Given the description of an element on the screen output the (x, y) to click on. 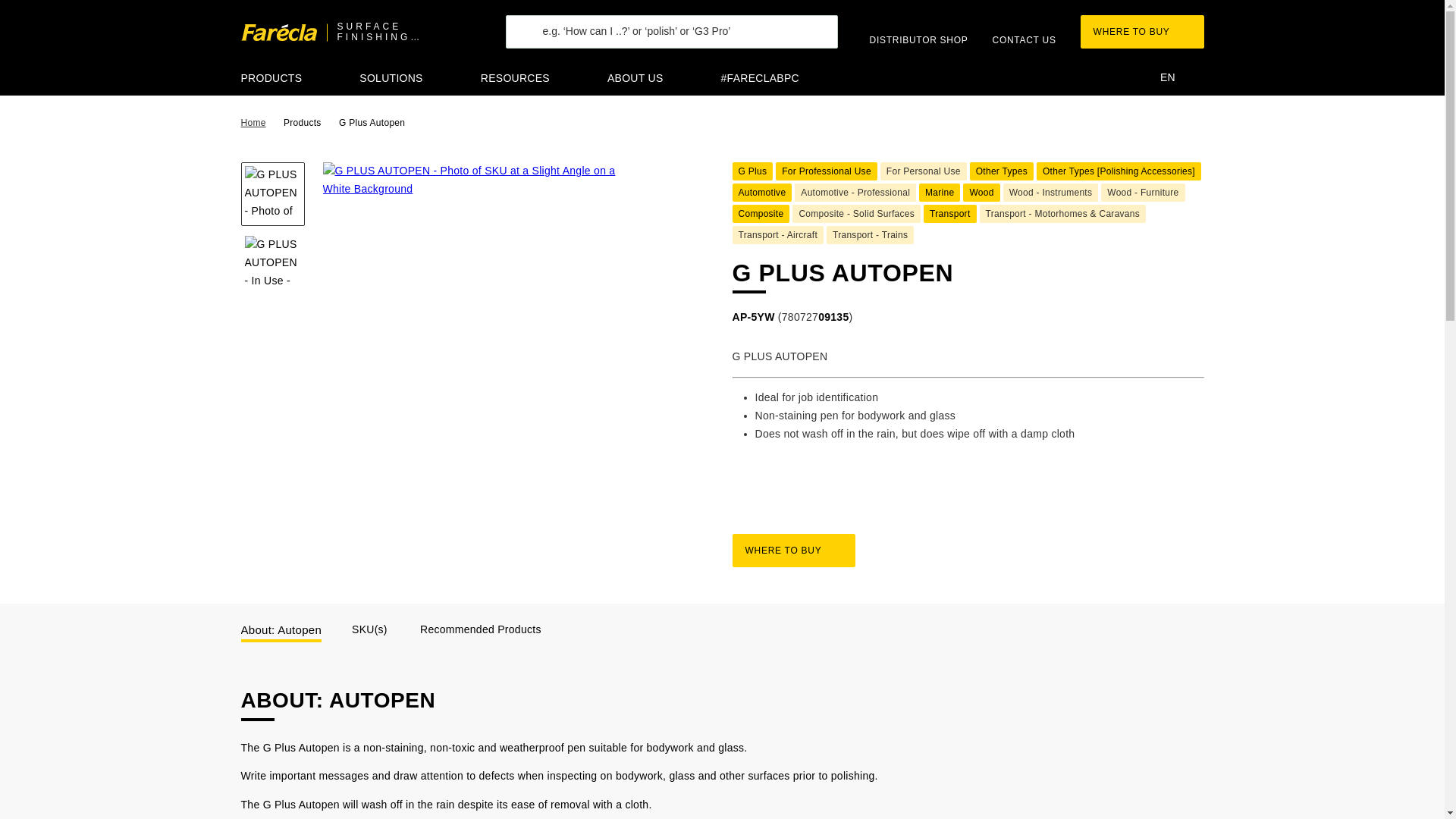
DISTRIBUTOR SHOP (918, 31)
EN (1177, 77)
SURFACE FINISHING SPECIALISTS (357, 32)
CONTACT US (1024, 31)
PRODUCTS (281, 79)
Search (538, 48)
WHERE TO BUY (1142, 31)
